Given the description of an element on the screen output the (x, y) to click on. 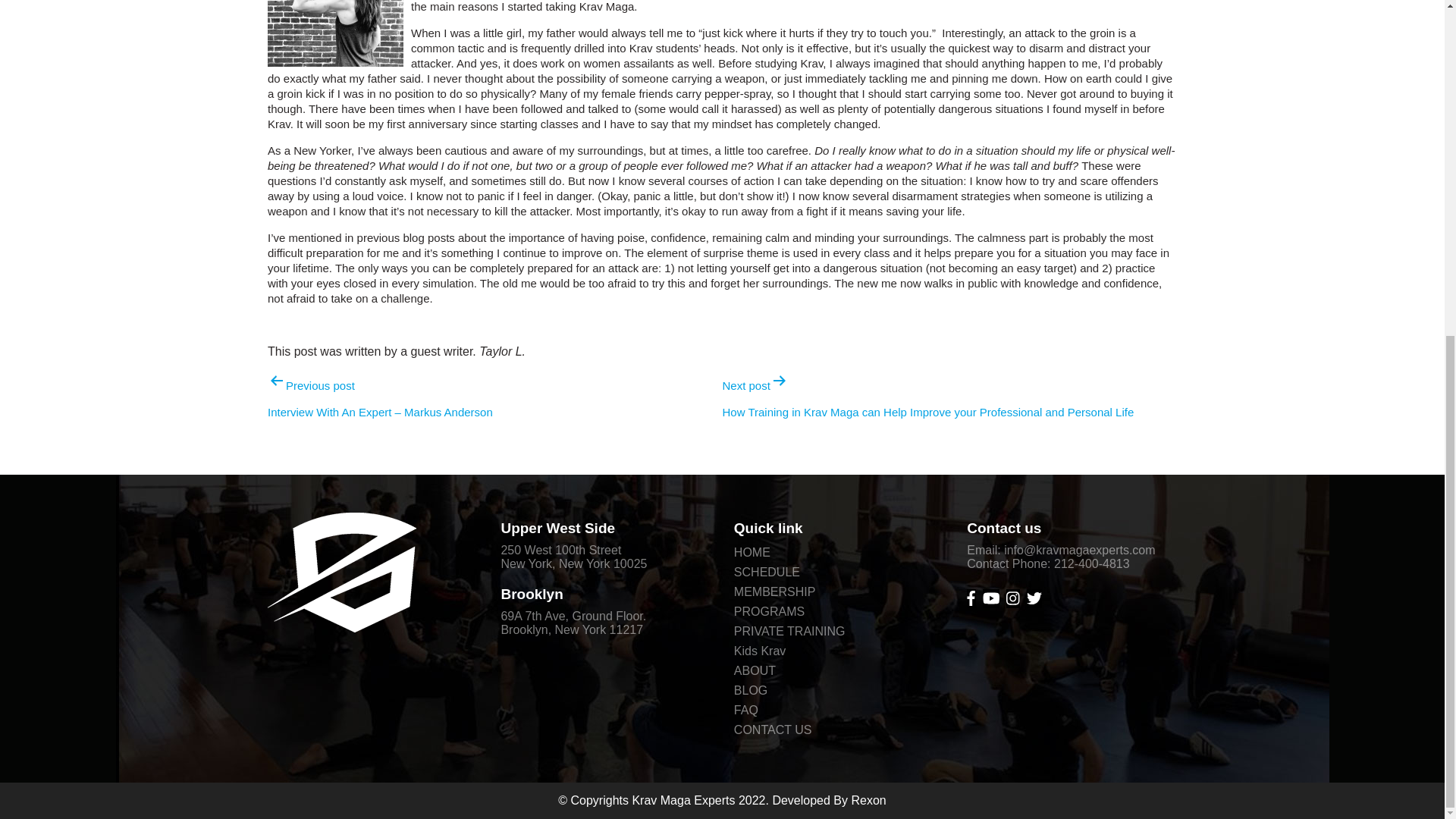
PRIVATE TRAINING (789, 631)
SCHEDULE (766, 572)
FAQ (745, 710)
Kids Krav (759, 651)
BLOG (750, 690)
HOME (751, 552)
PROGRAMS (769, 612)
CONTACT US (772, 730)
ABOUT (754, 671)
